Given the description of an element on the screen output the (x, y) to click on. 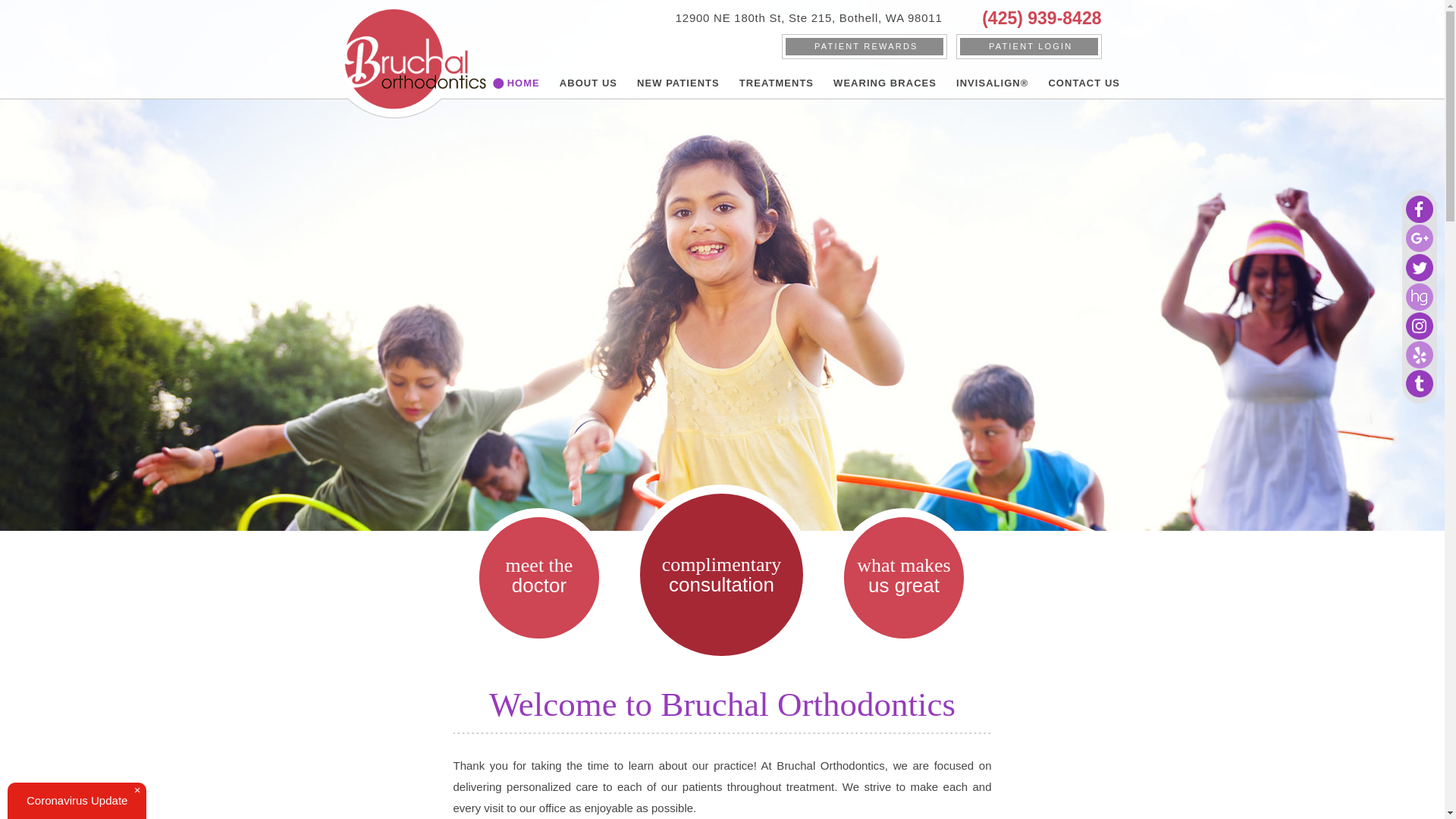
TREATMENTS (776, 82)
HOME (523, 82)
WEARING BRACES (884, 82)
ABOUT US (587, 82)
NEW PATIENTS (807, 18)
PATIENT REWARDS (677, 82)
PATIENT LOGIN (864, 46)
